Given the description of an element on the screen output the (x, y) to click on. 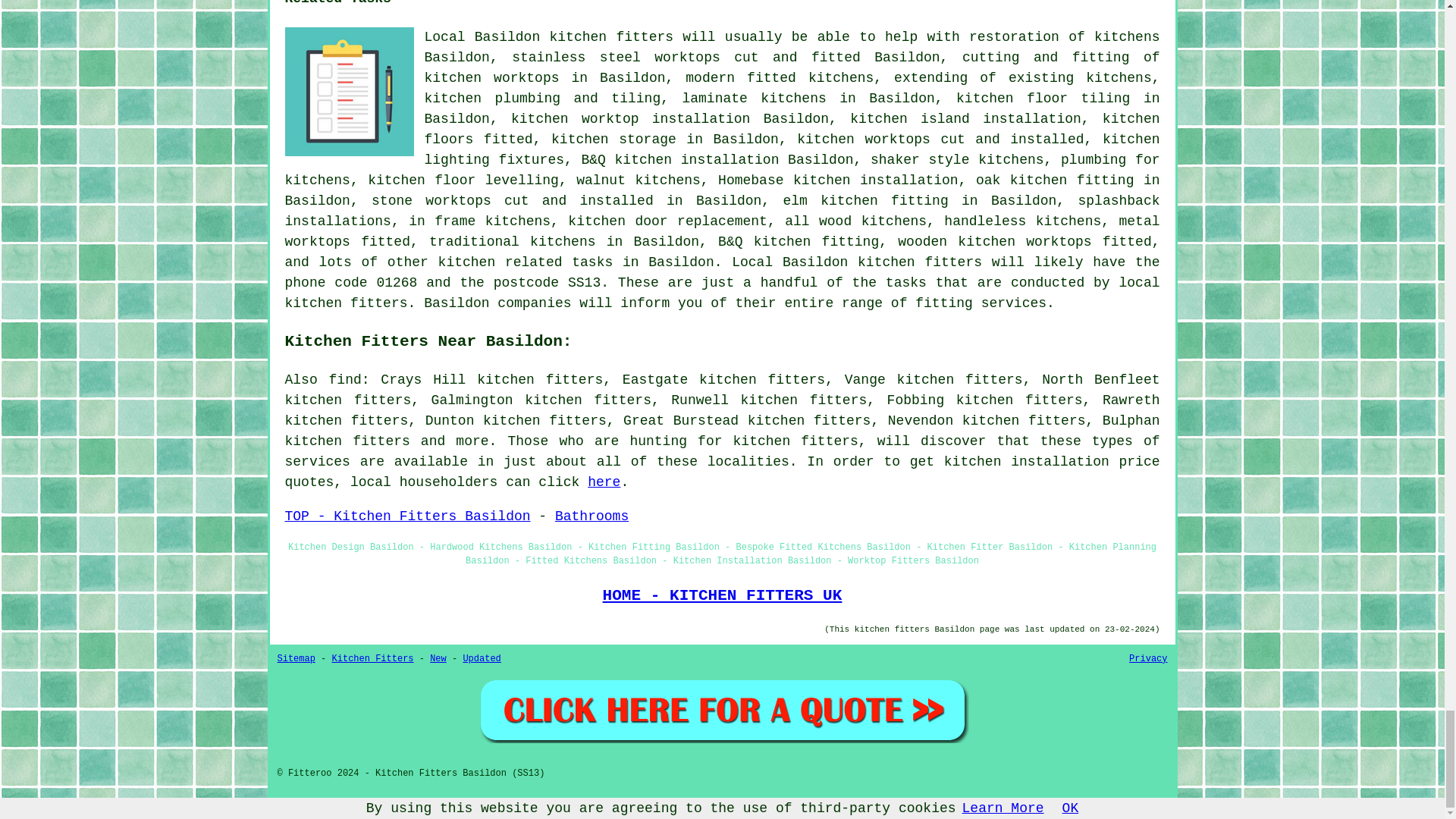
kitchen worktop installation (630, 118)
Kitchen Fitting Tasks Basildon (349, 91)
traditional kitchens (512, 241)
KITCHEN FITTERS BASILDON - GET A QUOTE (722, 709)
modern fitted kitchens (779, 77)
